Given the description of an element on the screen output the (x, y) to click on. 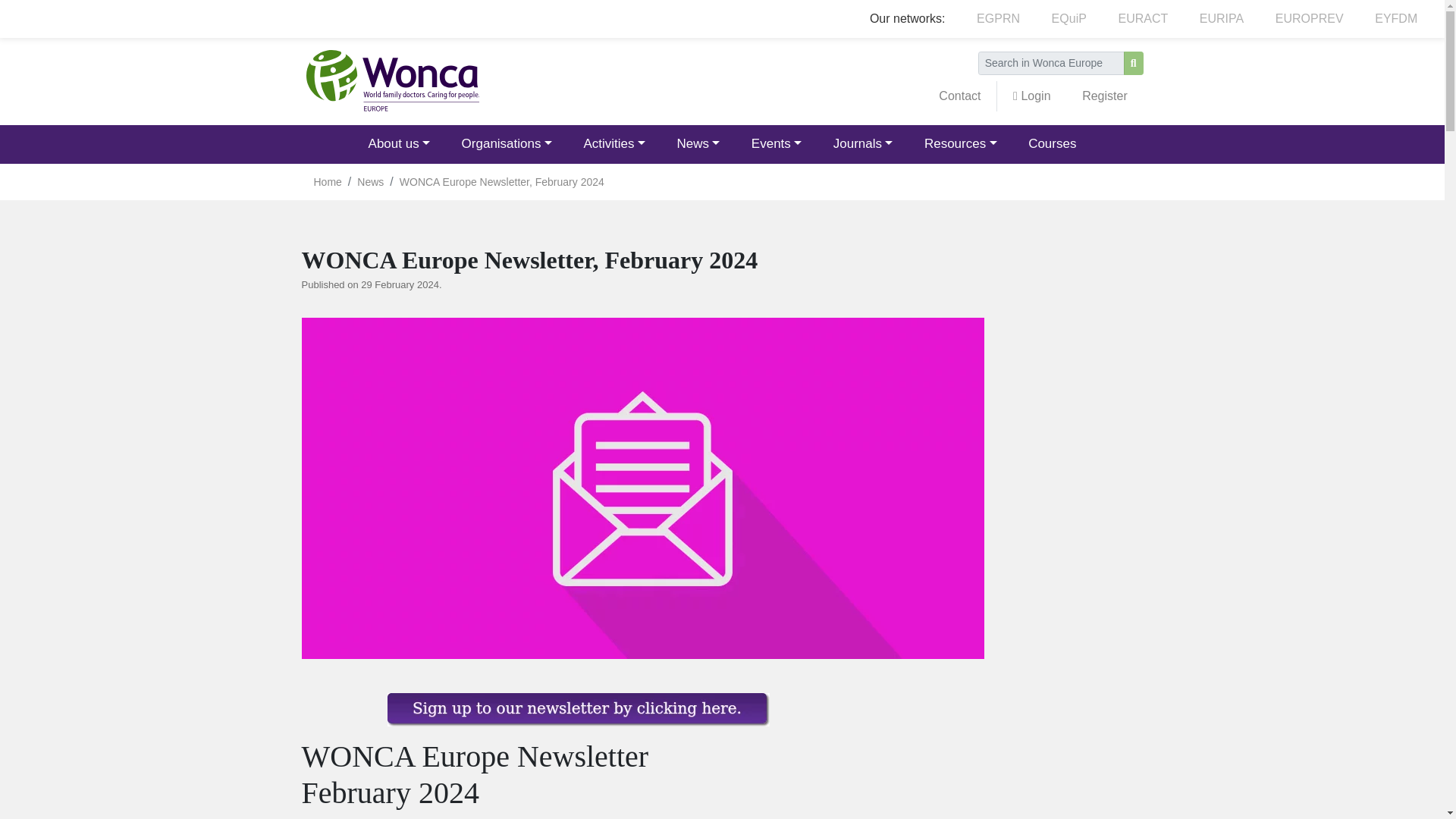
EUROPREV (1308, 19)
Home (390, 79)
EURIPA (1221, 19)
Organisations (506, 144)
European Young Family Doctors Movement (1395, 19)
Home (390, 81)
European General Practice Research Network (997, 19)
Activities (614, 144)
Contact (960, 96)
European Rural and Isolated Practitioners Association (1221, 19)
